Given the description of an element on the screen output the (x, y) to click on. 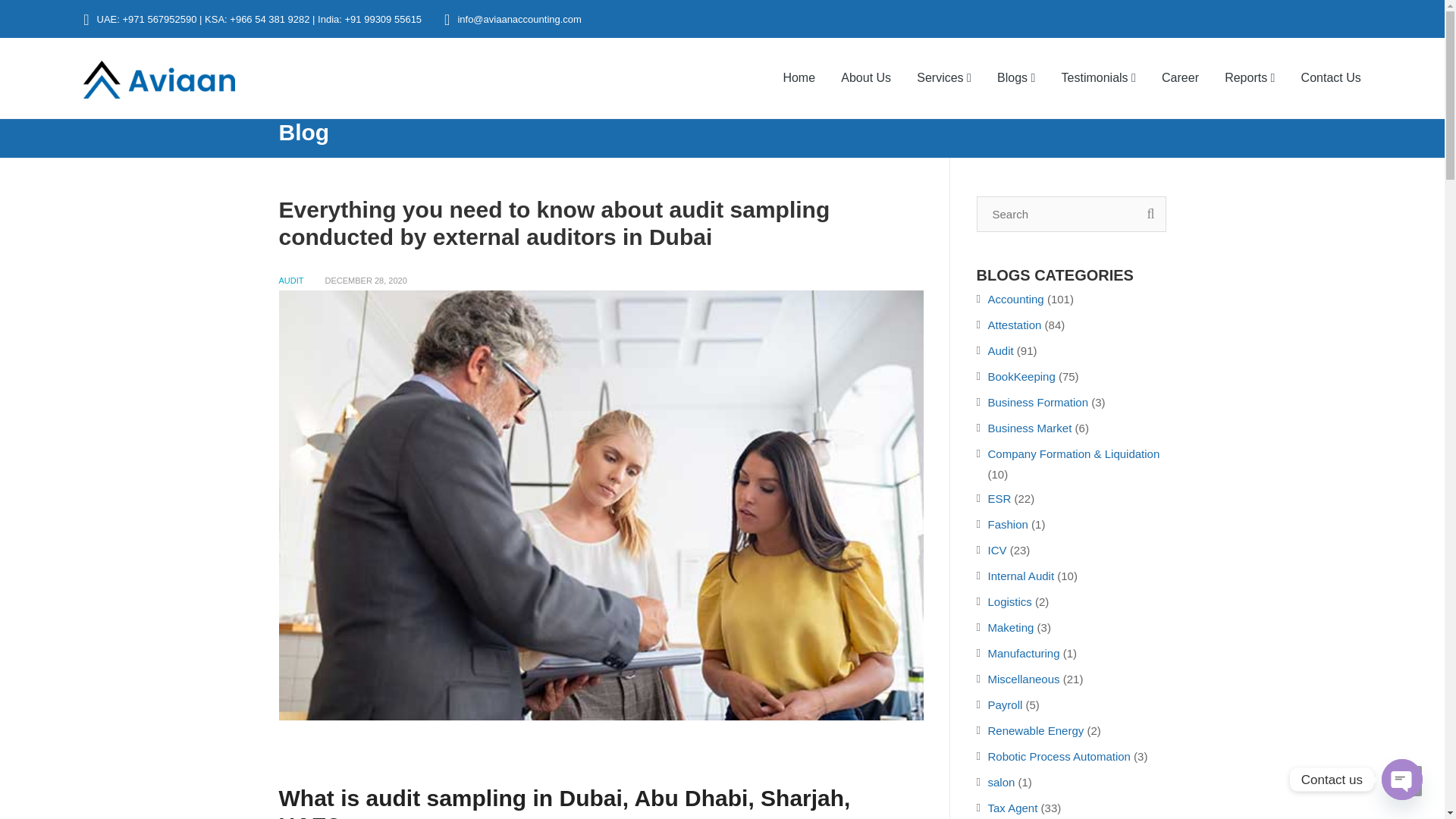
Home (799, 88)
About Us (865, 88)
Services (943, 88)
